Given the description of an element on the screen output the (x, y) to click on. 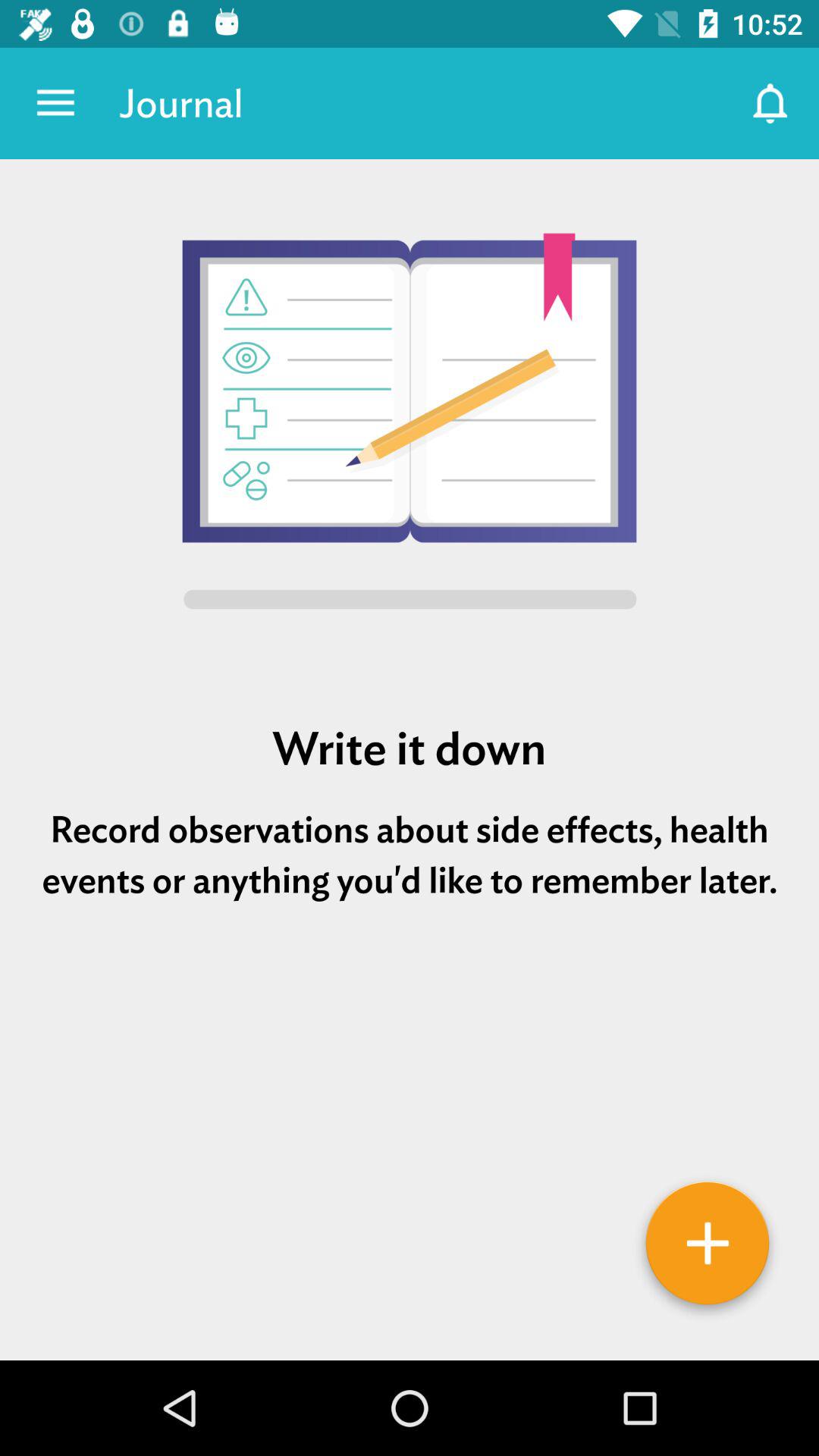
flip to record observations about icon (409, 855)
